Given the description of an element on the screen output the (x, y) to click on. 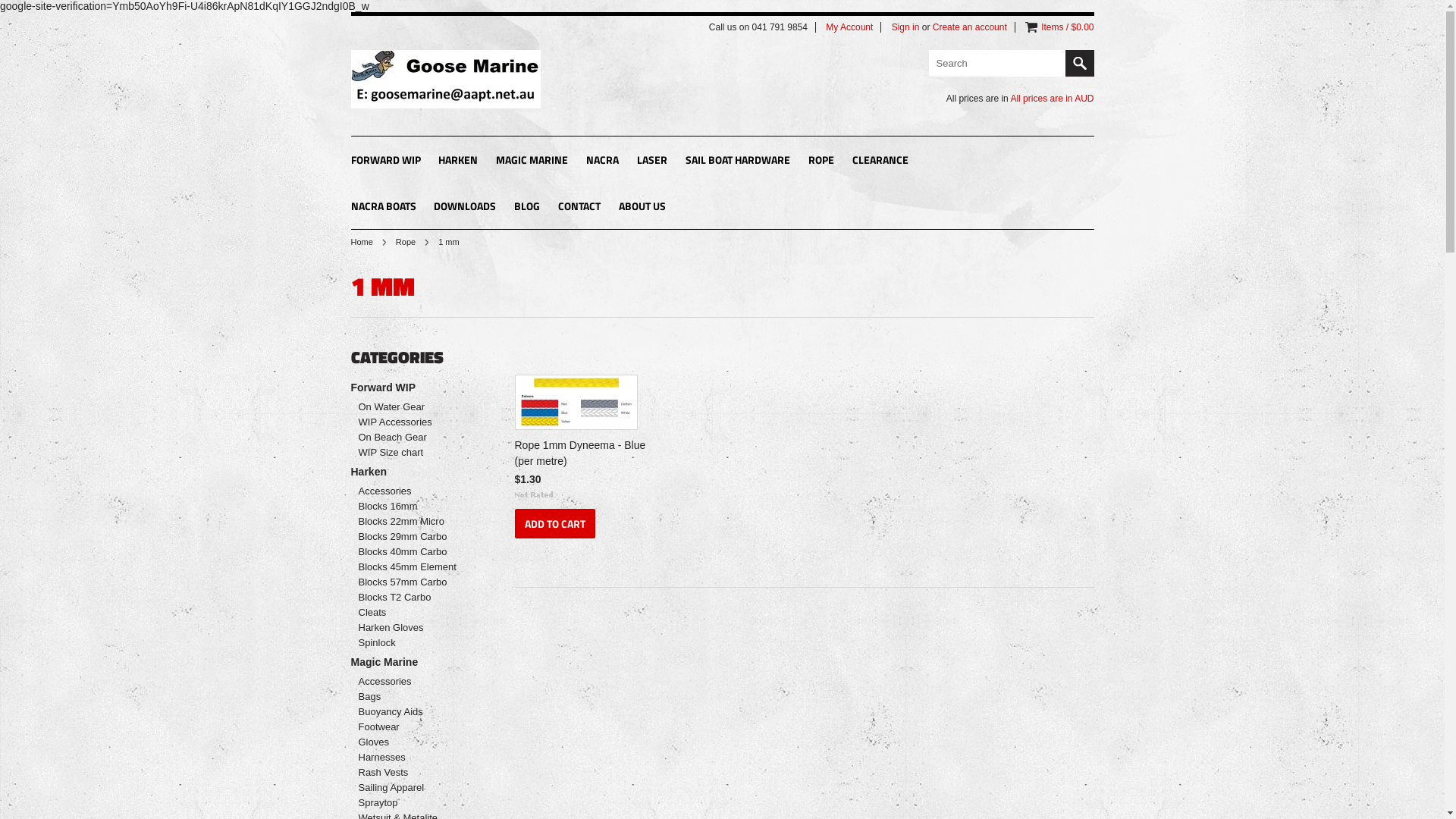
Bags Element type: text (410, 696)
Footwear Element type: text (410, 726)
Sign in Element type: text (905, 26)
LASER Element type: text (652, 160)
NACRA BOATS Element type: text (382, 206)
Blocks 16mm Element type: text (410, 505)
Forward WIP Element type: text (416, 387)
Blocks T2 Carbo Element type: text (410, 596)
Spraytop Element type: text (410, 802)
On Beach Gear Element type: text (410, 436)
On Water Gear Element type: text (410, 406)
Items / $0.00 Element type: text (1067, 26)
NACRA Element type: text (602, 160)
Harken Gloves Element type: text (410, 627)
Create an account Element type: text (969, 26)
Buoyancy Aids Element type: text (410, 711)
Home Element type: text (367, 241)
WIP Size chart Element type: text (410, 452)
Accessories Element type: text (410, 681)
BLOG Element type: text (526, 206)
Harnesses Element type: text (410, 756)
SAIL BOAT HARDWARE Element type: text (737, 160)
All prices are in AUD Element type: text (1051, 98)
Blocks 57mm Carbo Element type: text (410, 581)
MAGIC MARINE Element type: text (531, 160)
Sailing Apparel Element type: text (410, 787)
View Cart Element type: hover (1031, 26)
CONTACT Element type: text (579, 206)
ADD TO CART Element type: text (554, 523)
Rope Element type: text (412, 241)
Blocks 29mm Carbo Element type: text (410, 536)
Rash Vests Element type: text (410, 772)
Harken Element type: text (416, 471)
HARKEN Element type: text (457, 160)
Rope 1mm Dyneema - Blue (per metre) Element type: text (583, 455)
Blocks 22mm Micro Element type: text (410, 521)
Blocks 40mm Carbo Element type: text (410, 551)
DOWNLOADS Element type: text (464, 206)
Cleats Element type: text (410, 612)
CLEARANCE Element type: text (880, 160)
Gloves Element type: text (410, 741)
My Account Element type: text (848, 26)
Magic Marine Element type: text (416, 661)
Search Element type: hover (1078, 63)
Blocks 45mm Element Element type: text (410, 566)
ABOUT US Element type: text (641, 206)
FORWARD WIP Element type: text (385, 160)
Spinlock Element type: text (410, 642)
ROPE Element type: text (821, 160)
Accessories Element type: text (410, 490)
WIP Accessories Element type: text (410, 421)
